Given the description of an element on the screen output the (x, y) to click on. 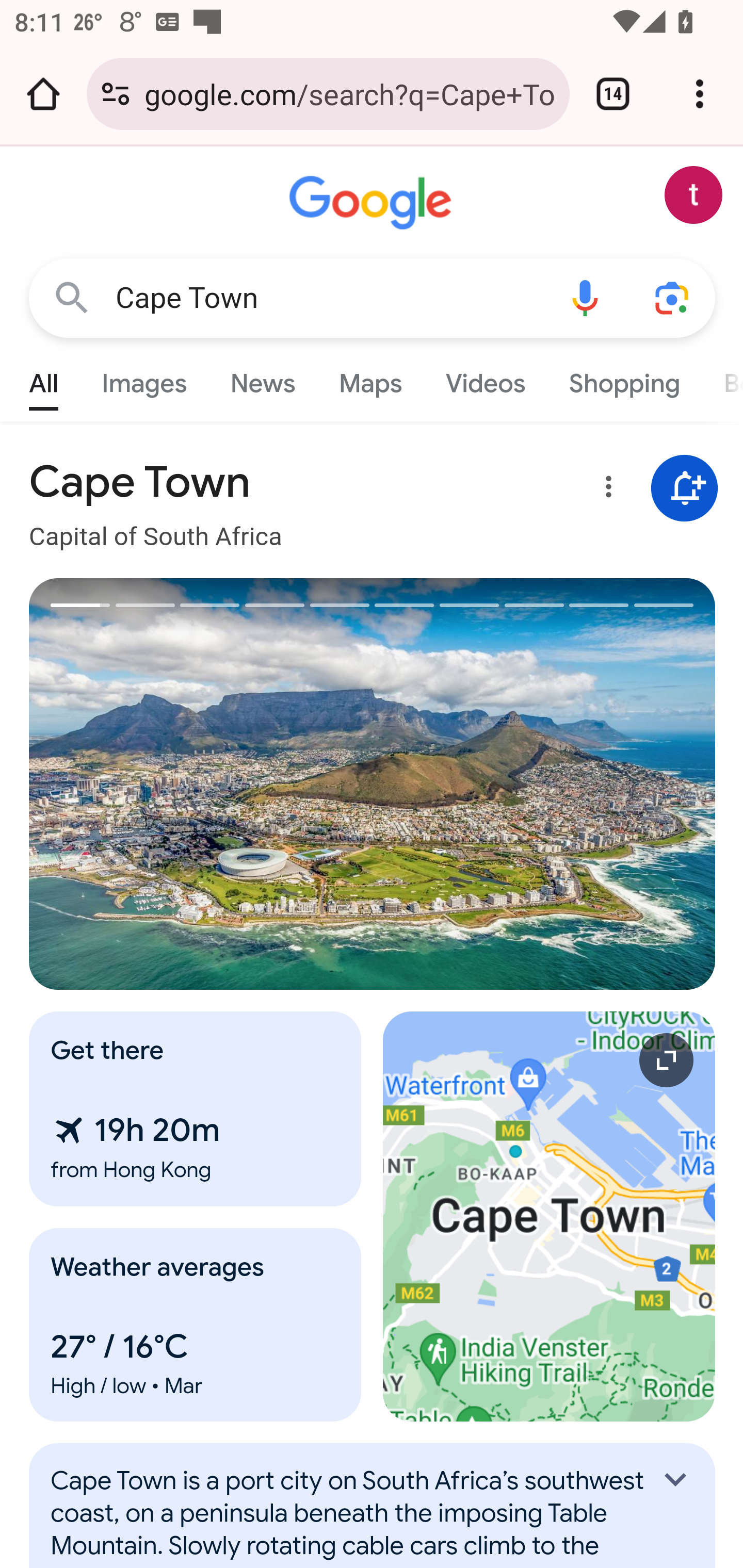
Open the home page (43, 93)
Connection is secure (115, 93)
Switch or close tabs (612, 93)
Customize and control Google Chrome (699, 93)
Google (372, 203)
Google Search (71, 296)
Search using your camera or photos (672, 296)
Cape Town (328, 297)
Images (144, 378)
News (262, 378)
Maps (369, 378)
Videos (485, 378)
Shopping (623, 378)
Get notifications about Cape Town (684, 489)
More options (605, 489)
Expand map (549, 1216)
Weather averages 27° / 16°C High / low • Mar (195, 1324)
